Given the description of an element on the screen output the (x, y) to click on. 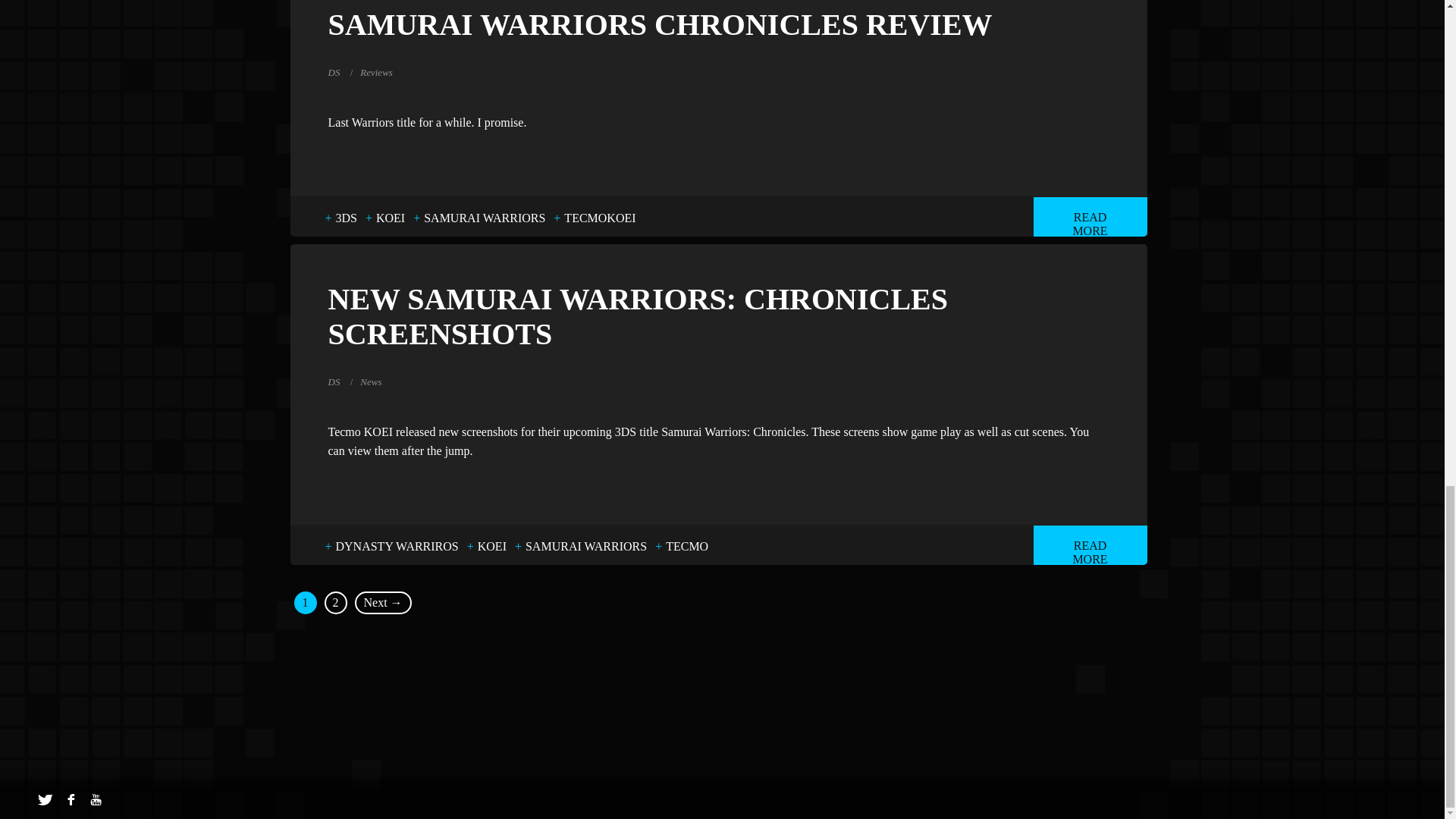
TECMOKOEI (599, 218)
SAMURAI WARRIORS (484, 218)
News (370, 381)
Reviews (376, 71)
SAMURAI WARRIORS CHRONICLES REVIEW (717, 24)
READ MORE (1089, 216)
DS (333, 71)
DS (333, 381)
3DS (345, 218)
KOEI (390, 218)
NEW SAMURAI WARRIORS: CHRONICLES SCREENSHOTS (717, 316)
